Given the description of an element on the screen output the (x, y) to click on. 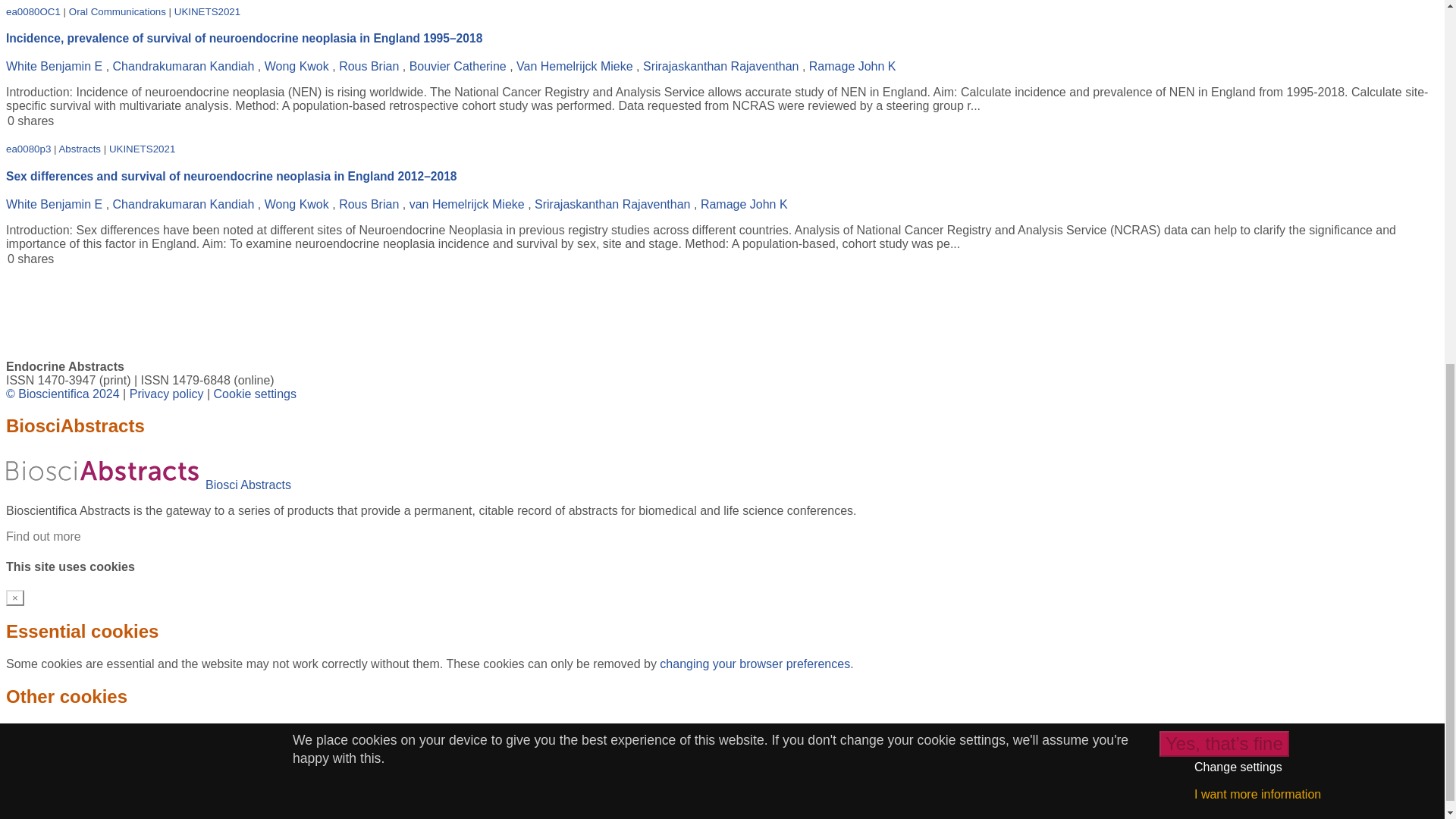
Change settings (1238, 104)
on (15, 755)
I want more information (1256, 131)
off (54, 755)
